Given the description of an element on the screen output the (x, y) to click on. 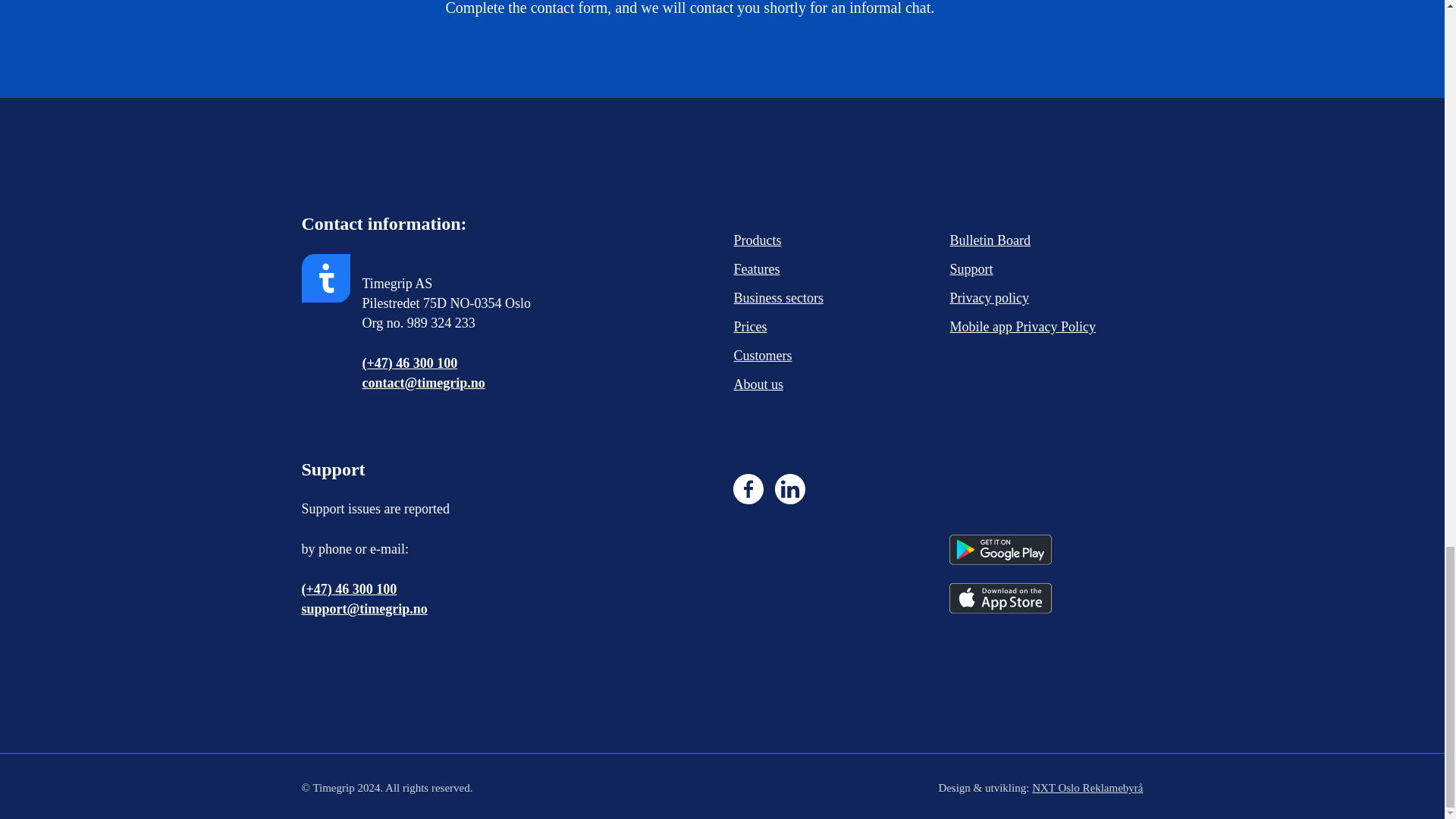
Products (793, 240)
Business sectors (793, 298)
Prices (793, 326)
Features (793, 269)
